Given the description of an element on the screen output the (x, y) to click on. 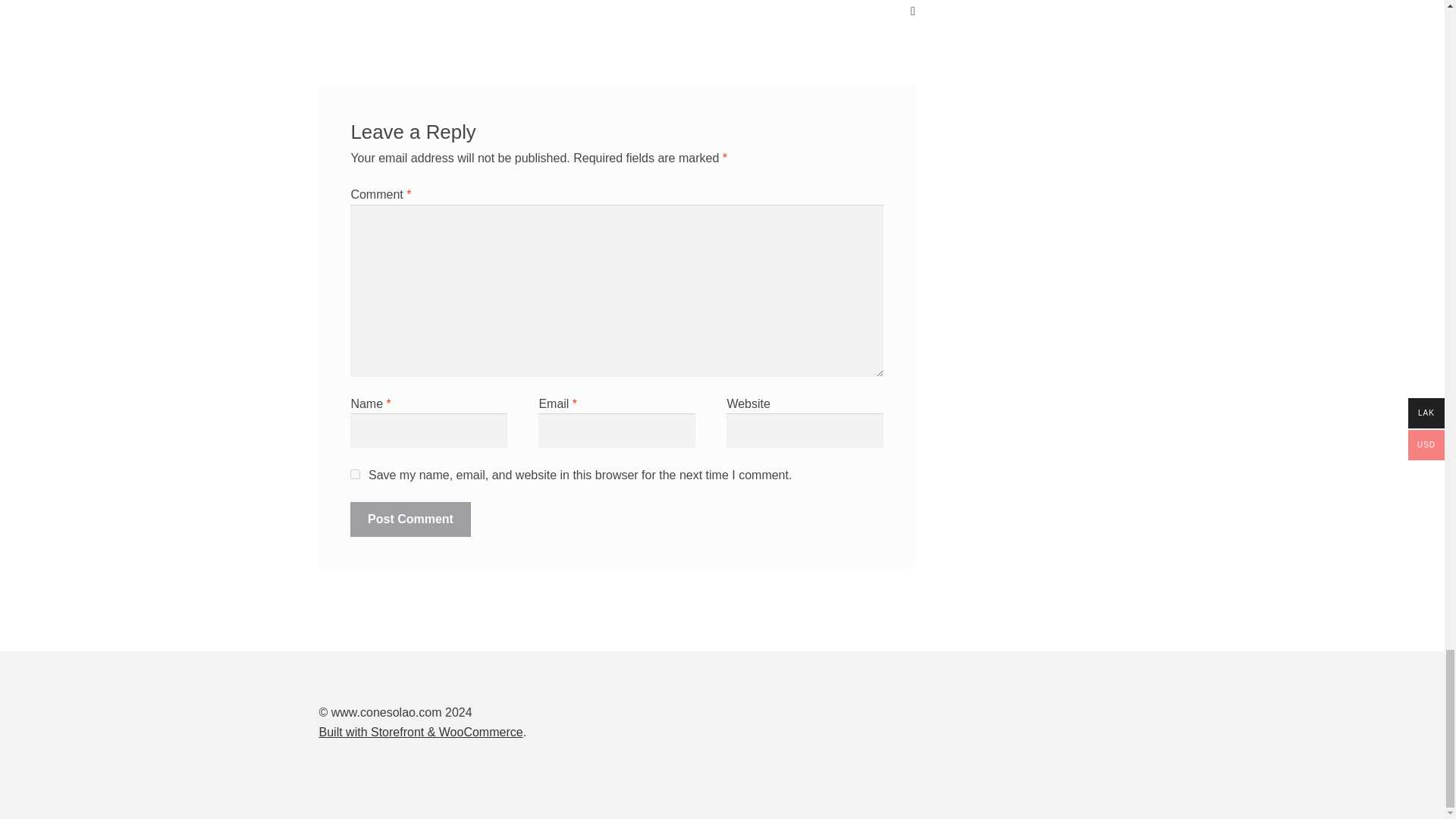
Post Comment (410, 519)
Post Comment (410, 519)
WooCommerce - The Best eCommerce Platform for WordPress (420, 731)
yes (354, 474)
